Given the description of an element on the screen output the (x, y) to click on. 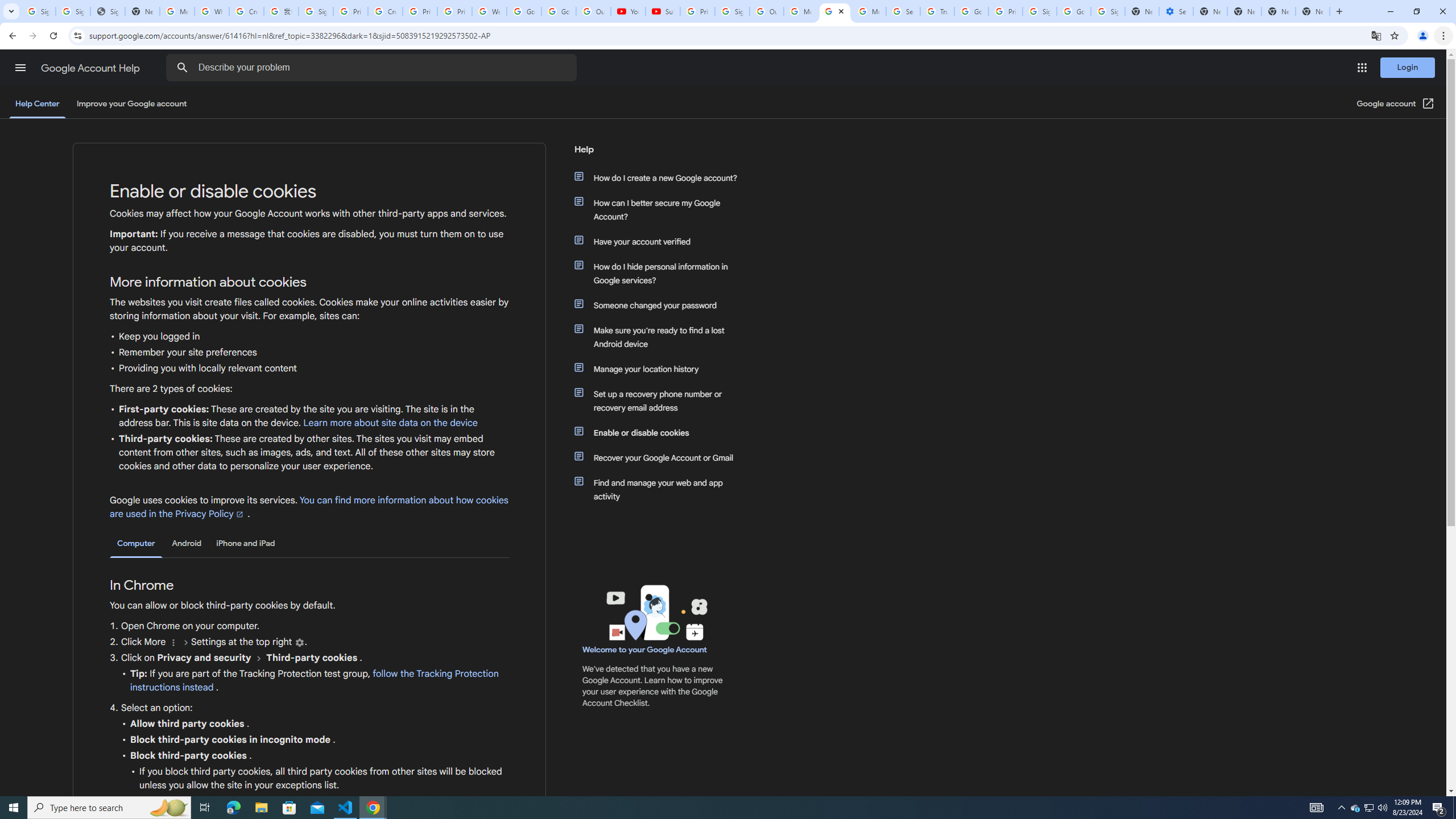
Learning Center home page image (655, 612)
iPhone and iPad (245, 542)
Google Cybersecurity Innovations - Google Safety Center (1073, 11)
and then (258, 657)
Make sure you're ready to find a lost Android device (661, 336)
Search the Help Center (181, 67)
How can I better secure my Google Account? (661, 209)
Improve your Google account (131, 103)
